Given the description of an element on the screen output the (x, y) to click on. 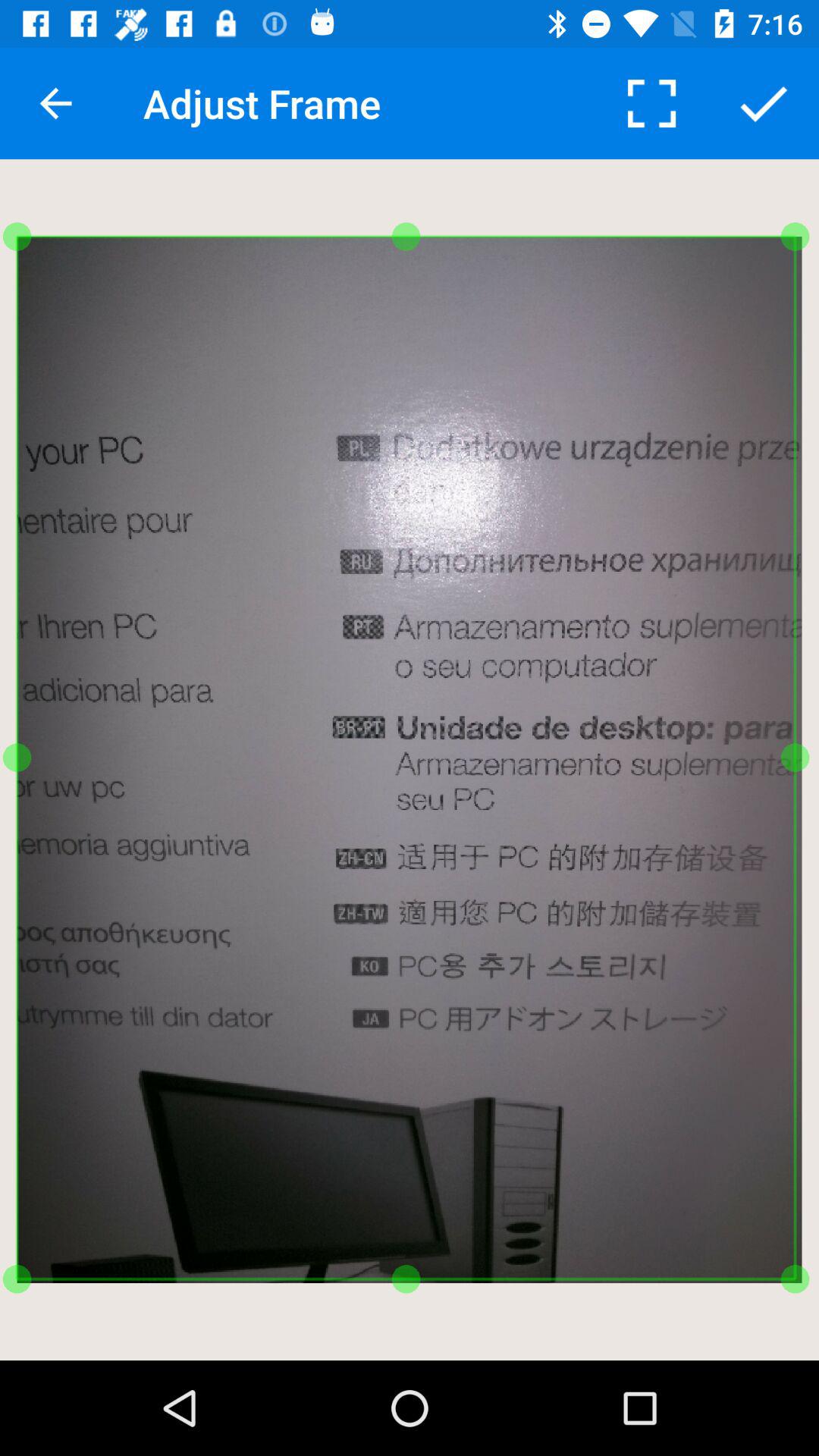
launch the icon to the left of adjust frame item (55, 103)
